Given the description of an element on the screen output the (x, y) to click on. 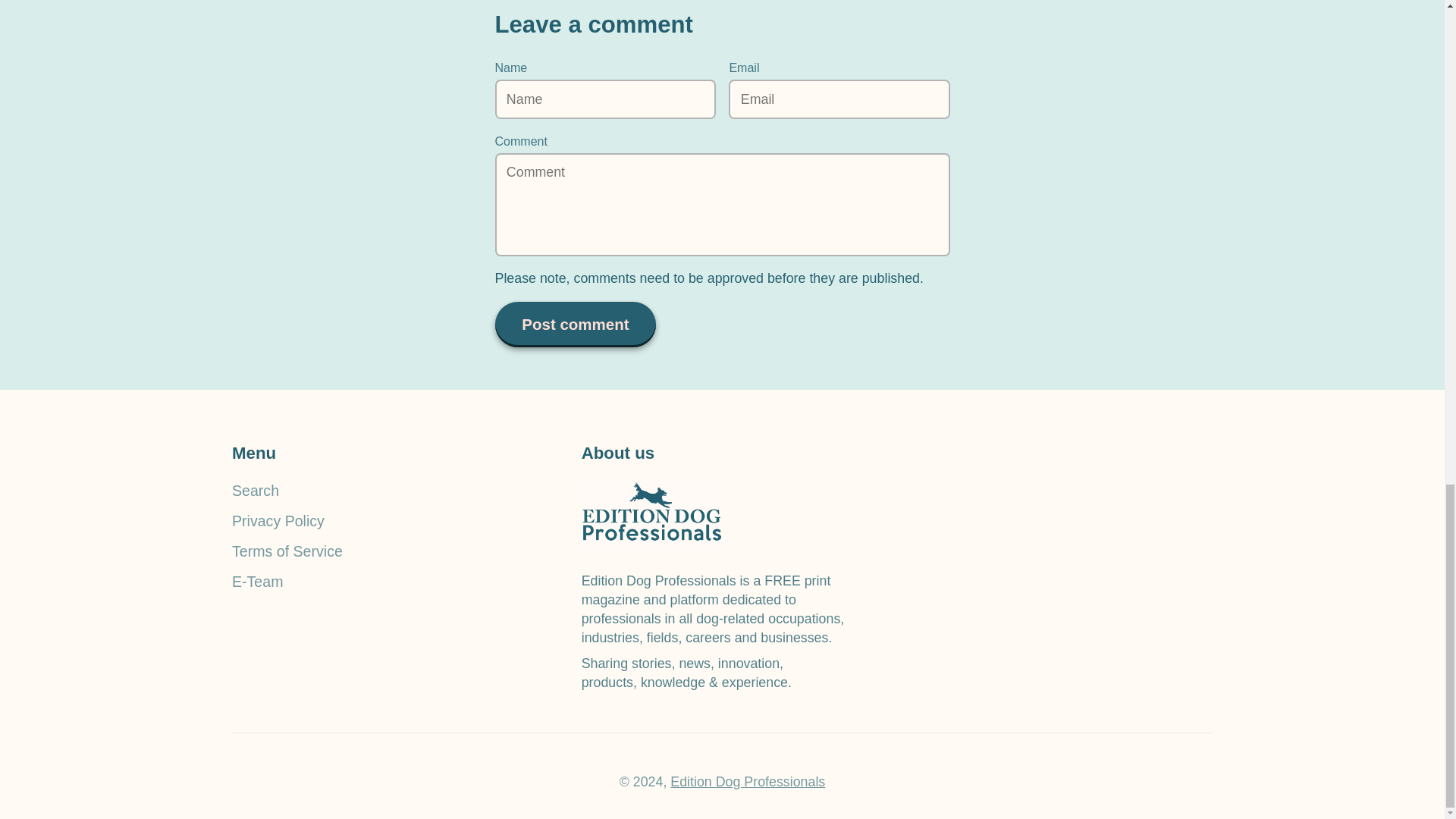
Terms of Service (372, 551)
E-Team (372, 581)
Search (372, 490)
Privacy Policy (372, 521)
Edition Dog Professionals (747, 781)
Post comment (575, 324)
